Given the description of an element on the screen output the (x, y) to click on. 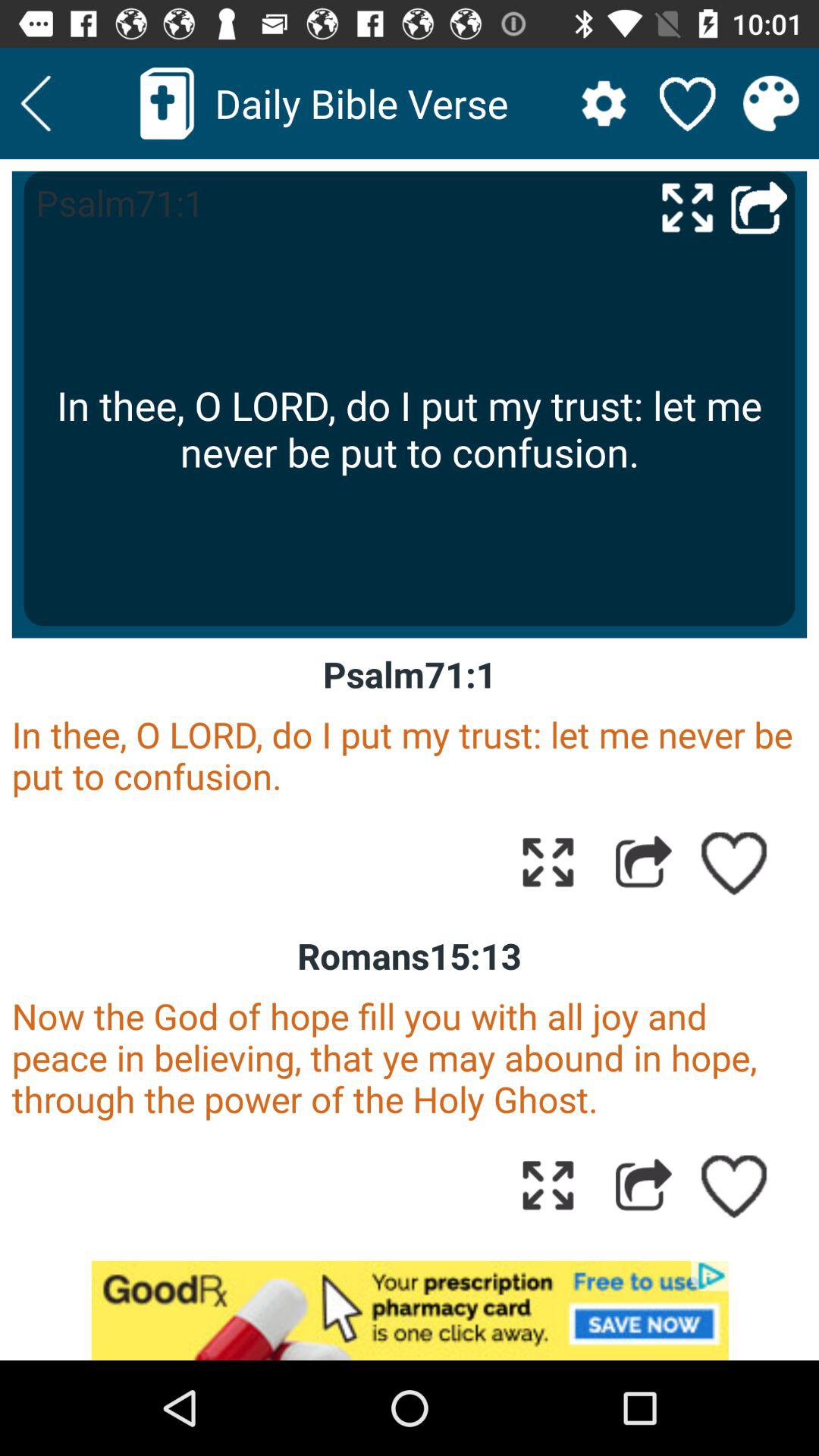
full screen (548, 861)
